Given the description of an element on the screen output the (x, y) to click on. 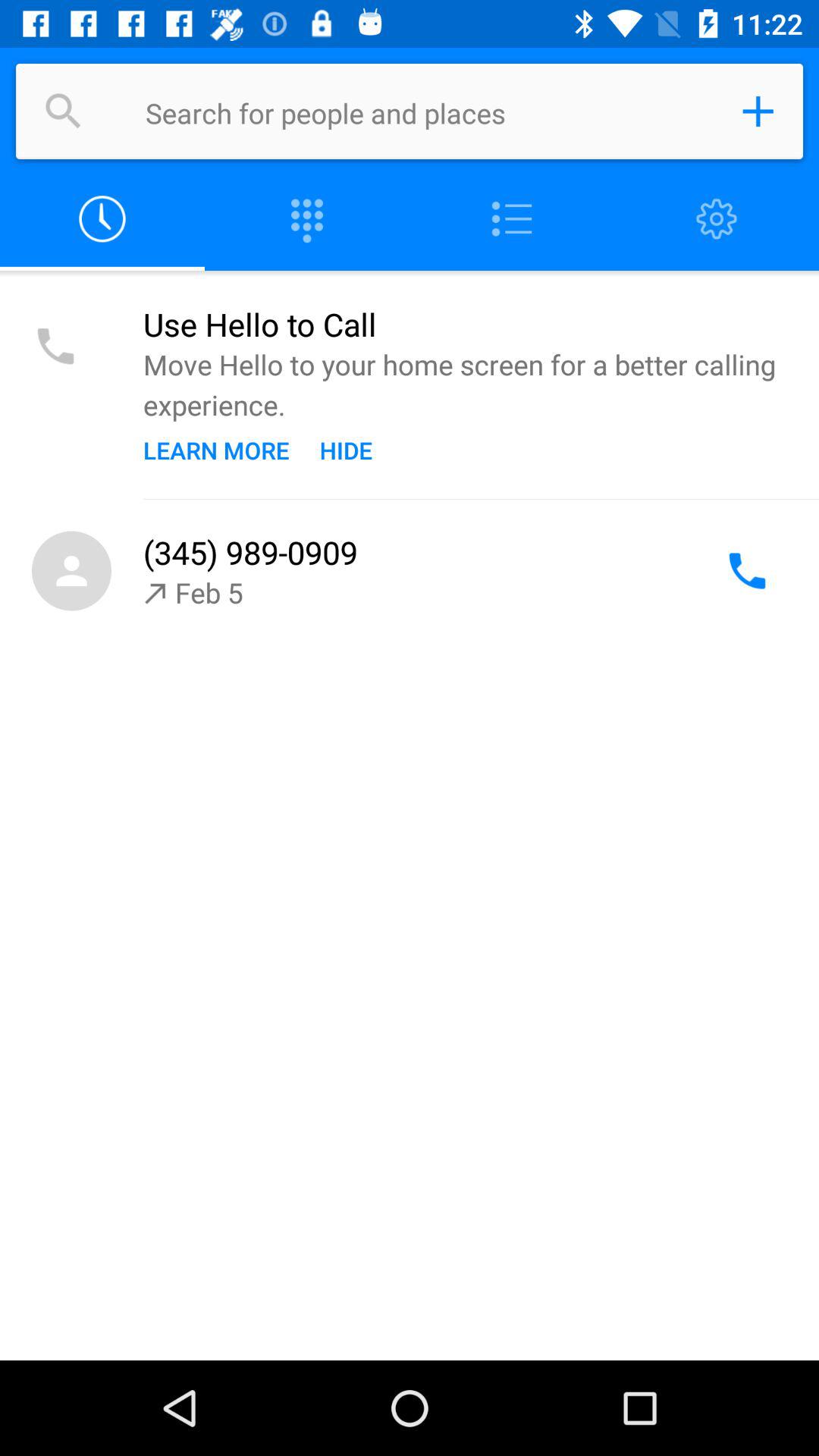
switch to log (102, 219)
